Given the description of an element on the screen output the (x, y) to click on. 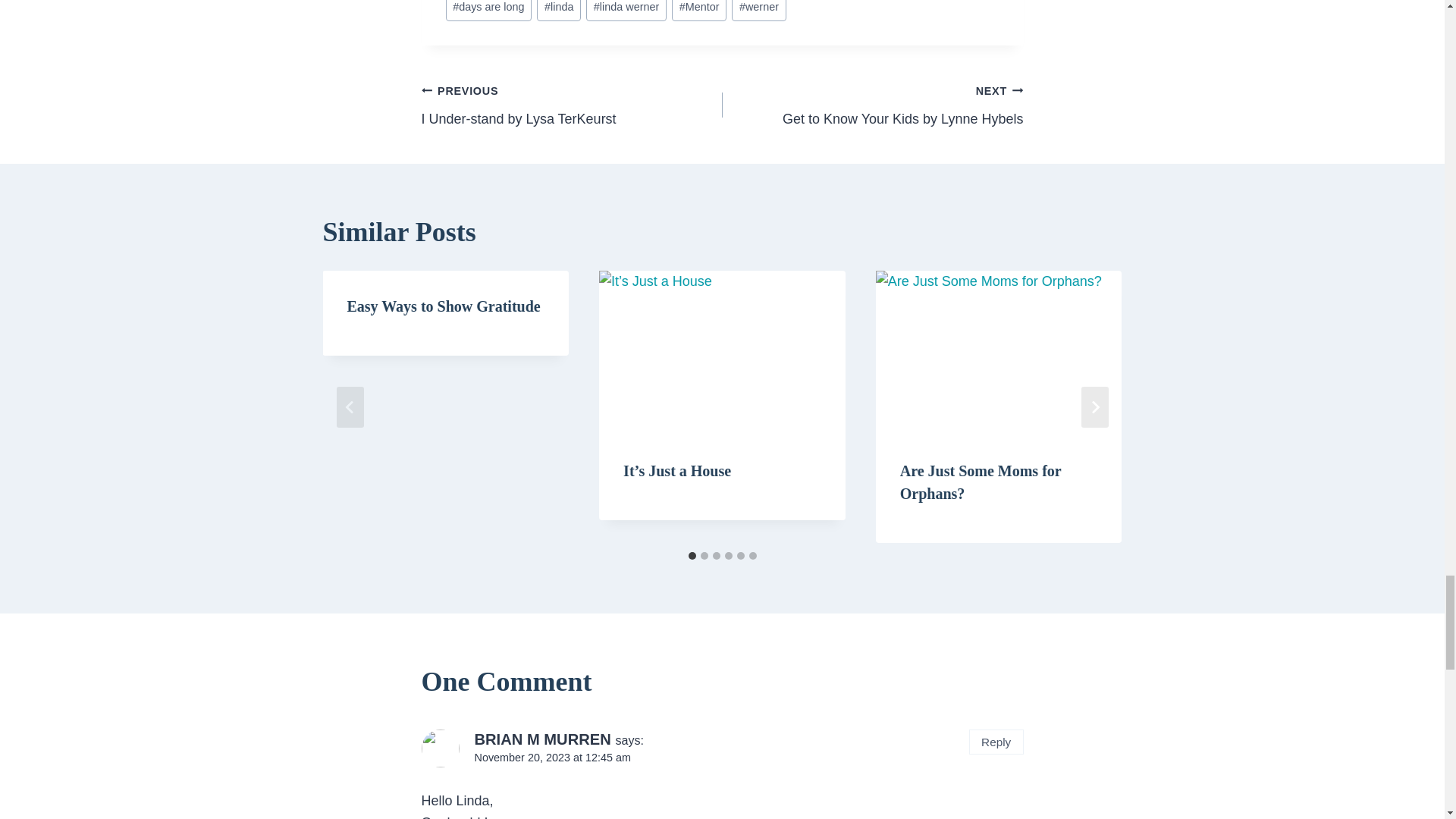
days are long (572, 104)
linda (488, 10)
Mentor (558, 10)
linda werner (698, 10)
werner (872, 104)
